Given the description of an element on the screen output the (x, y) to click on. 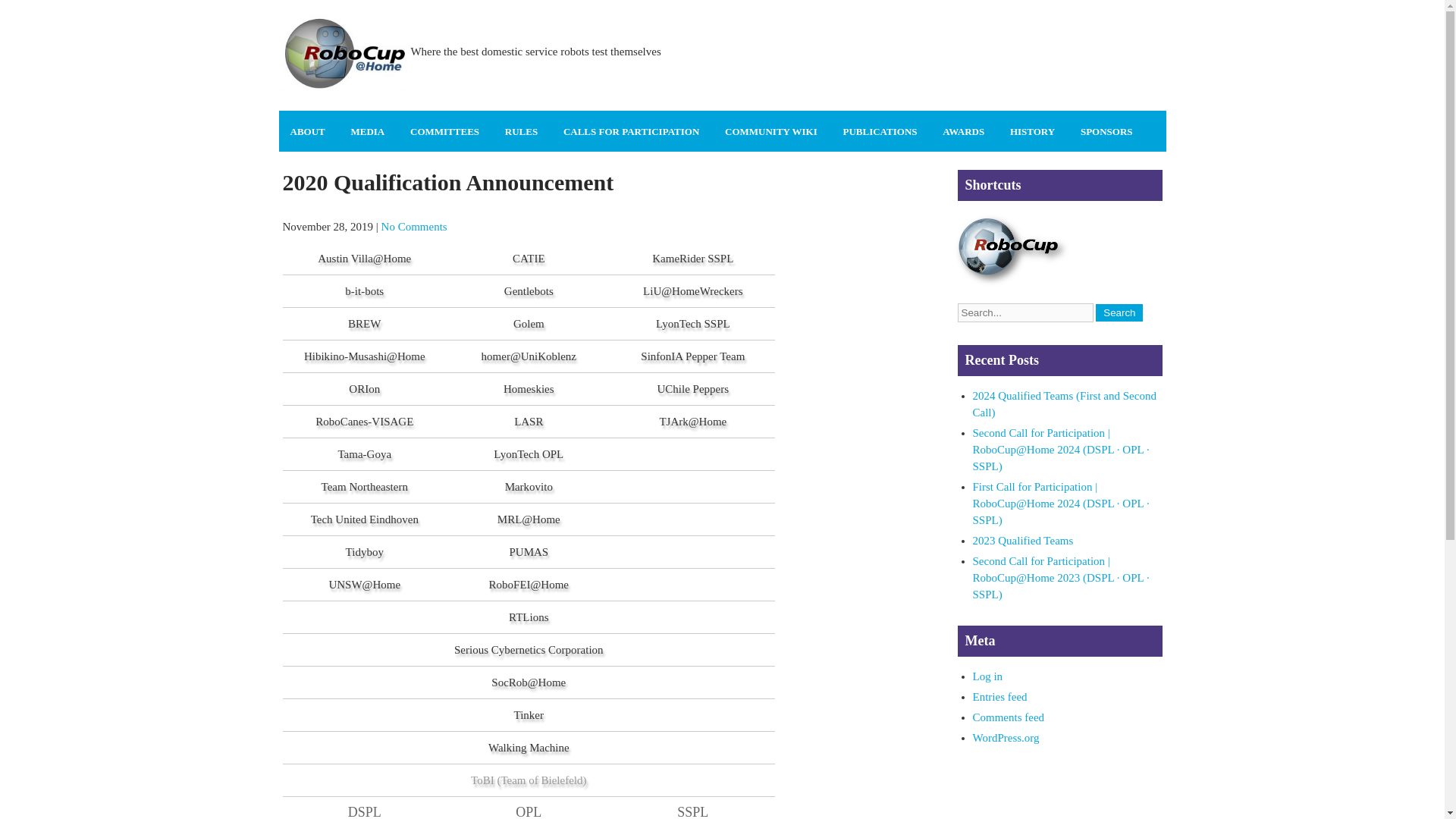
PUBLICATIONS (879, 131)
CALLS FOR PARTICIPATION (630, 131)
SPONSORS (1106, 131)
COMMUNITY WIKI (770, 131)
No Comments (413, 226)
COMMITTEES (444, 131)
AWARDS (963, 131)
Search (1119, 312)
RULES (520, 131)
HISTORY (1031, 131)
ABOUT (307, 131)
MEDIA (367, 131)
Search (1119, 312)
